Given the description of an element on the screen output the (x, y) to click on. 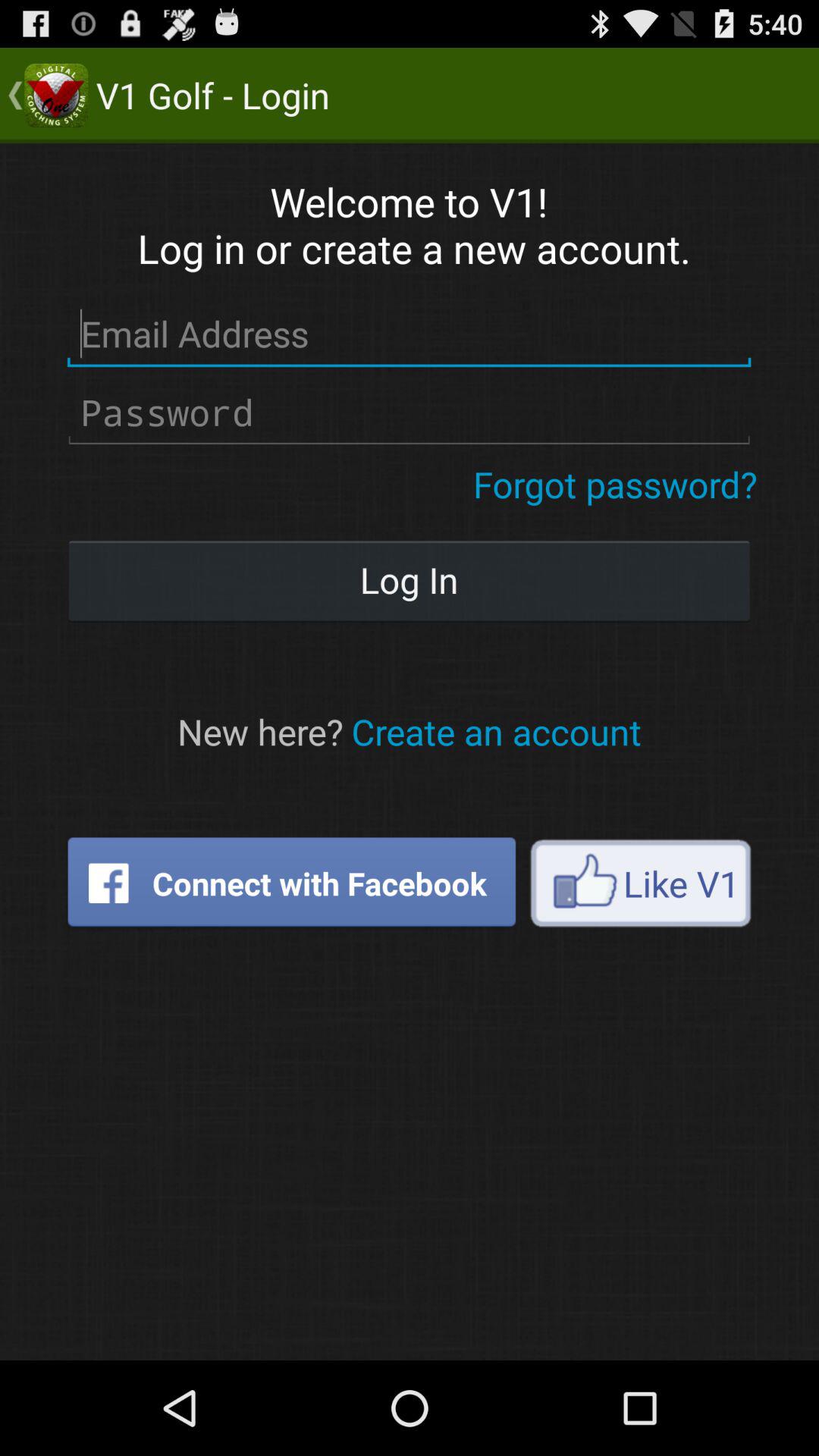
enter email address (408, 334)
